Given the description of an element on the screen output the (x, y) to click on. 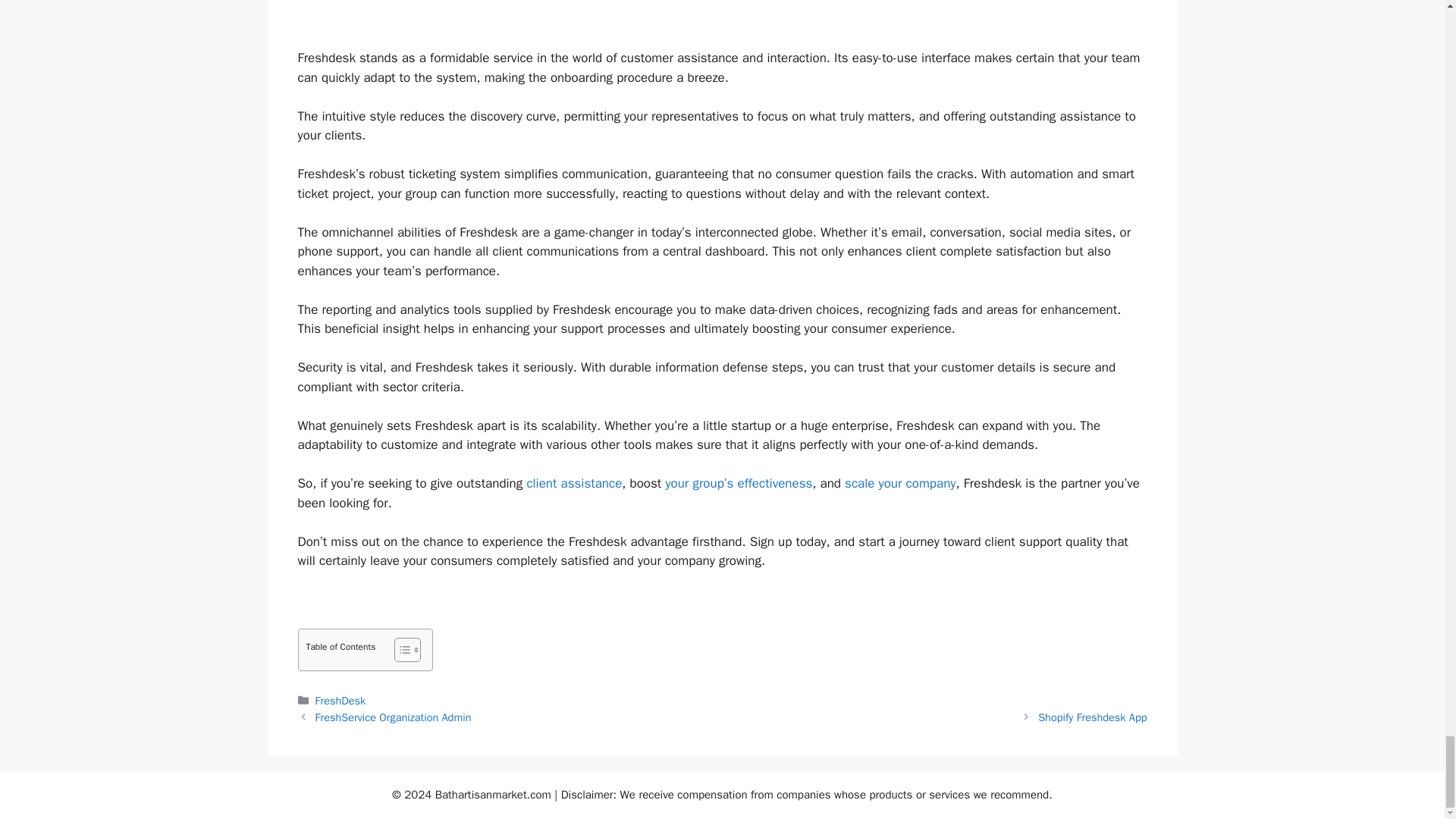
FreshService Organization Admin (393, 716)
client assistance (573, 483)
Shopify Freshdesk App (1092, 716)
FreshDesk (340, 700)
scale your company (899, 483)
